Given the description of an element on the screen output the (x, y) to click on. 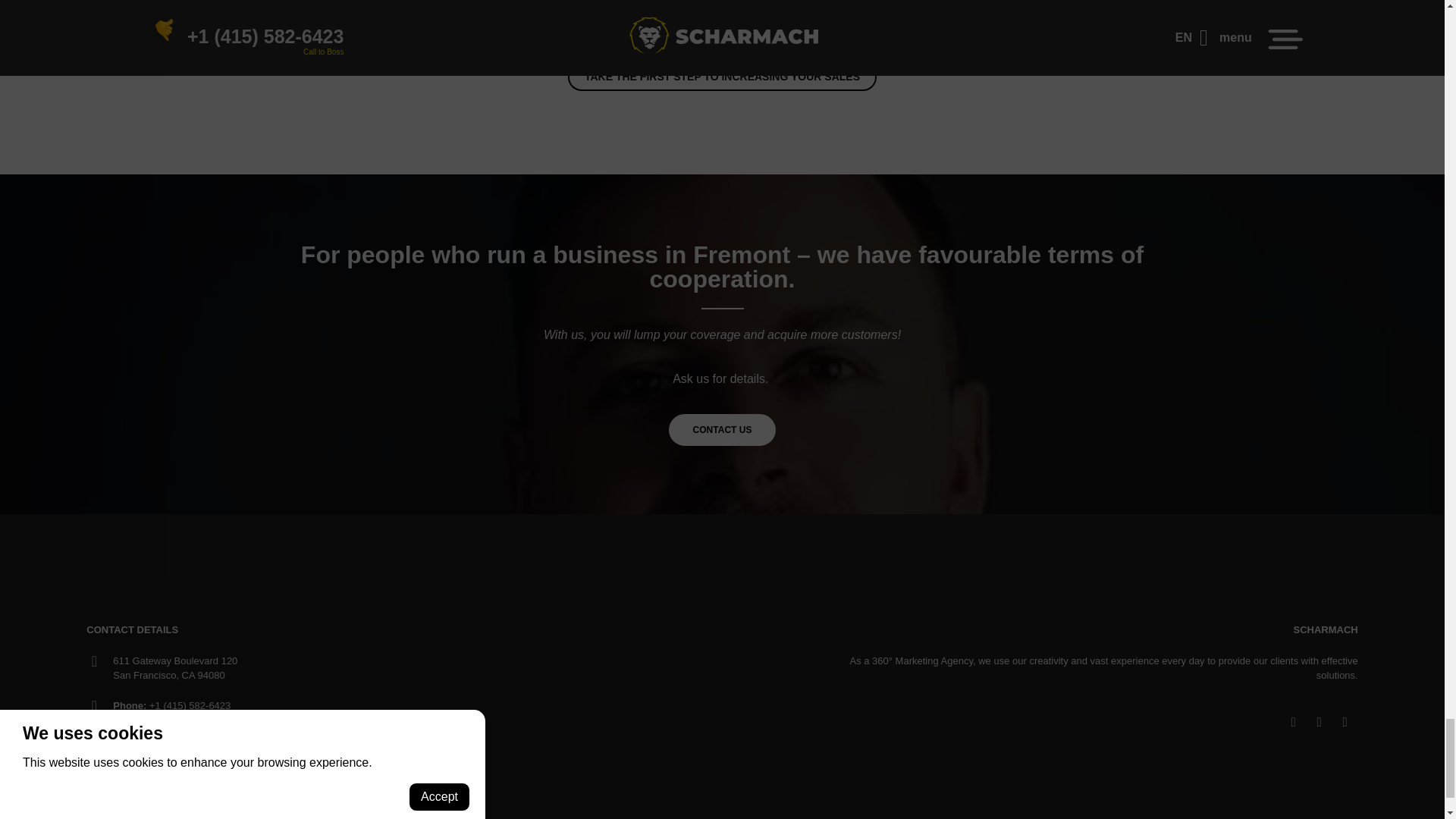
CONTACT US (722, 429)
TAKE THE FIRST STEP TO INCREASING YOUR SALES (721, 76)
